Given the description of an element on the screen output the (x, y) to click on. 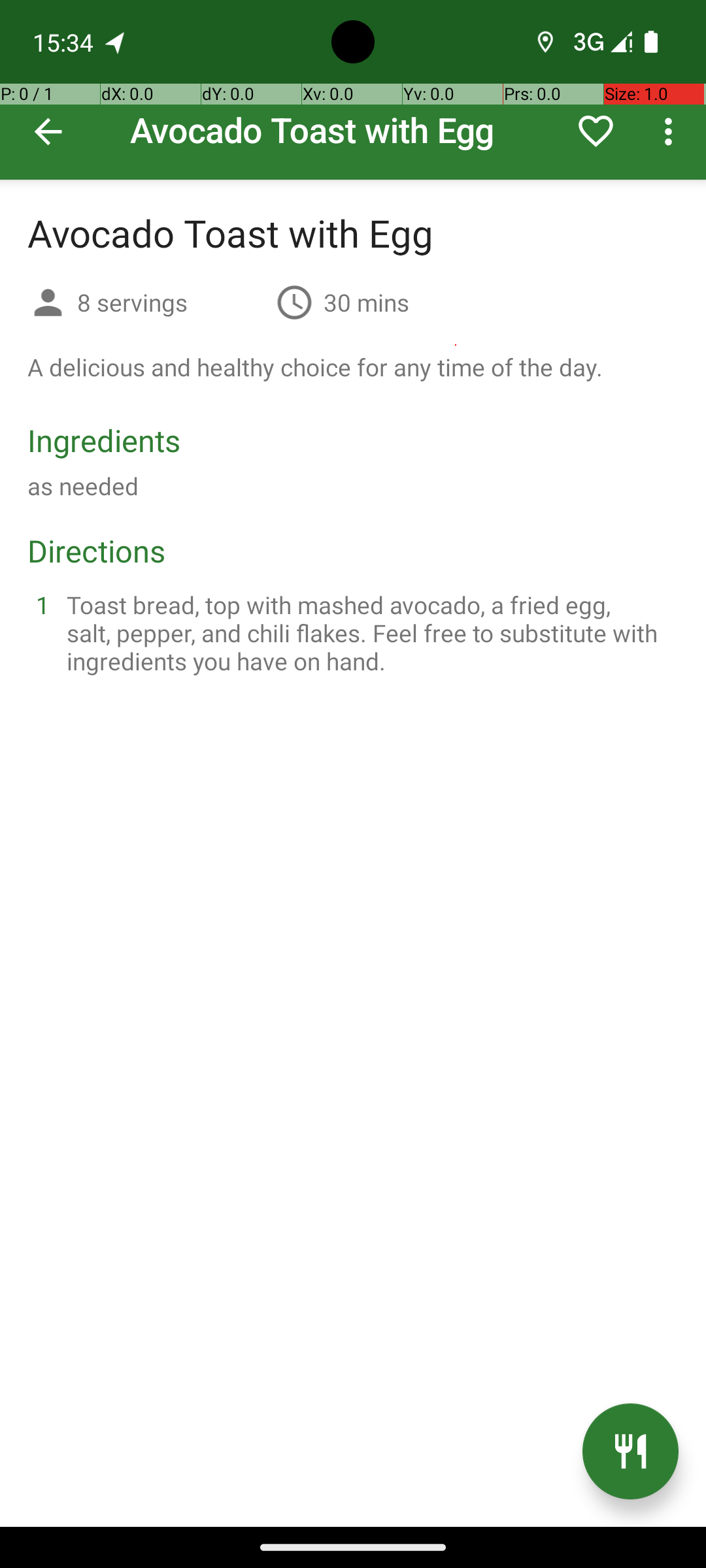
Toast bread, top with mashed avocado, a fried egg, salt, pepper, and chili flakes. Feel free to substitute with ingredients you have on hand. Element type: android.widget.TextView (368, 632)
